Given the description of an element on the screen output the (x, y) to click on. 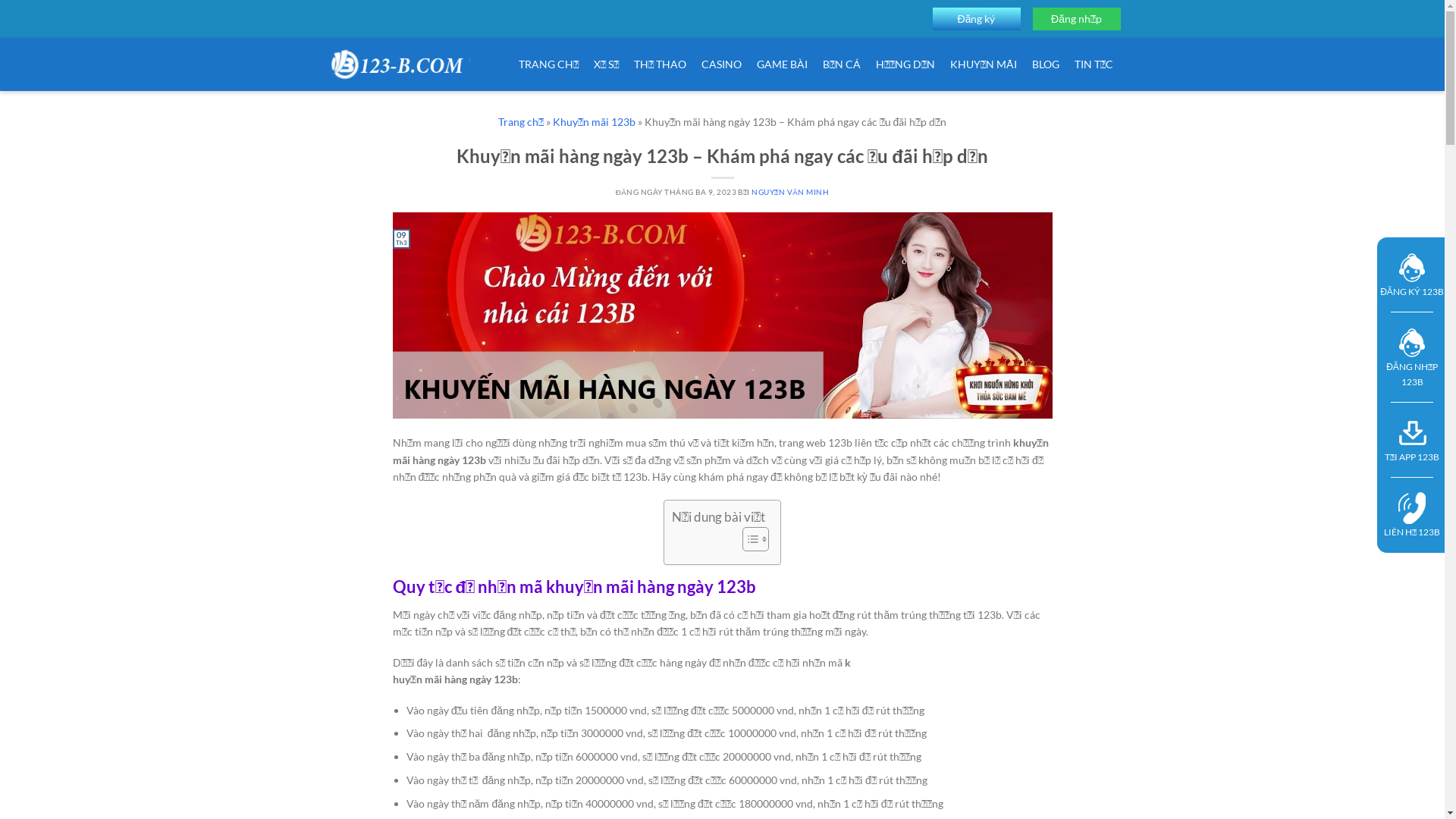
Logo Element type: hover (397, 64)
BLOG Element type: text (1044, 64)
CASINO Element type: text (720, 64)
